Given the description of an element on the screen output the (x, y) to click on. 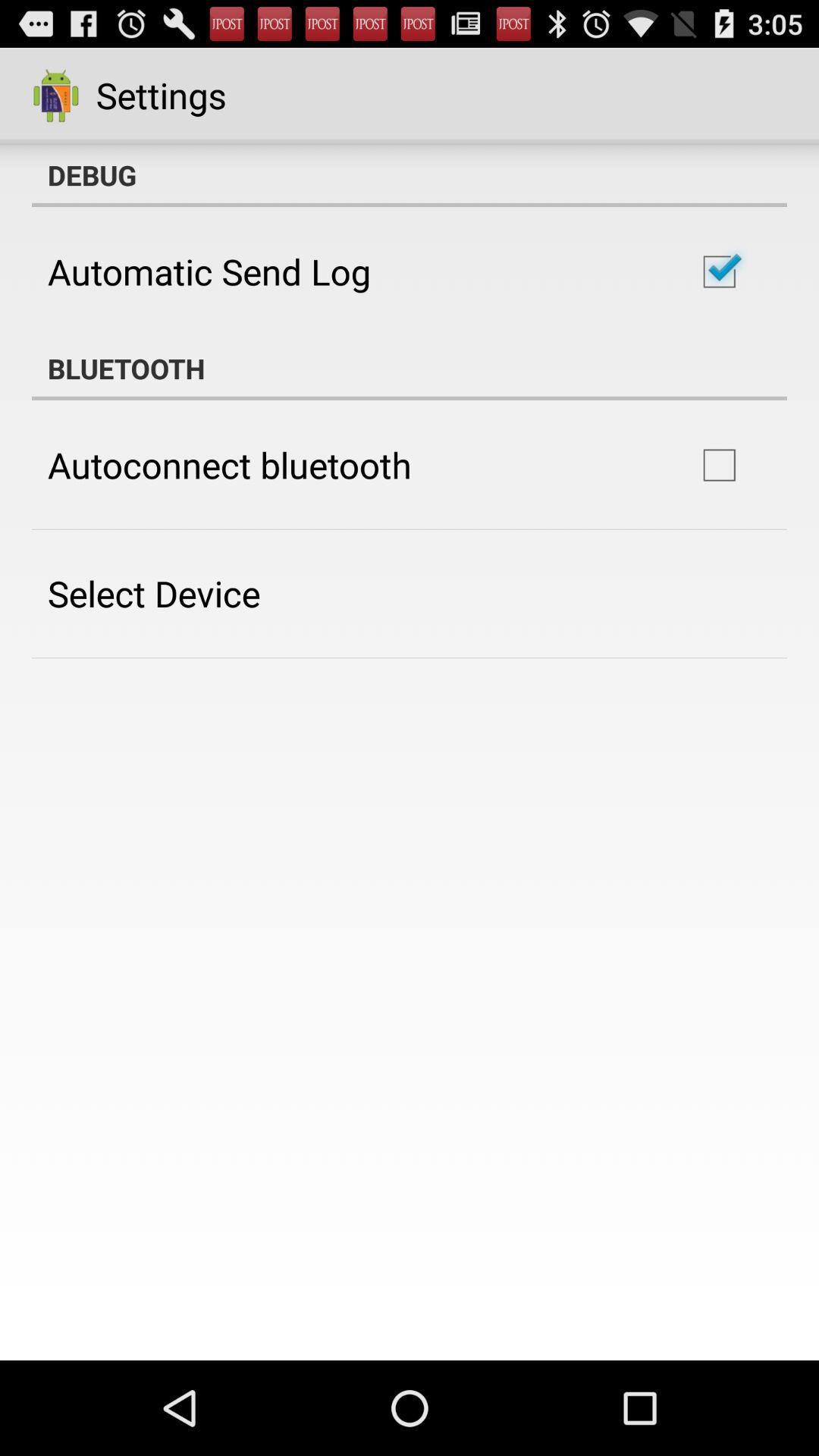
choose select device (153, 593)
